Given the description of an element on the screen output the (x, y) to click on. 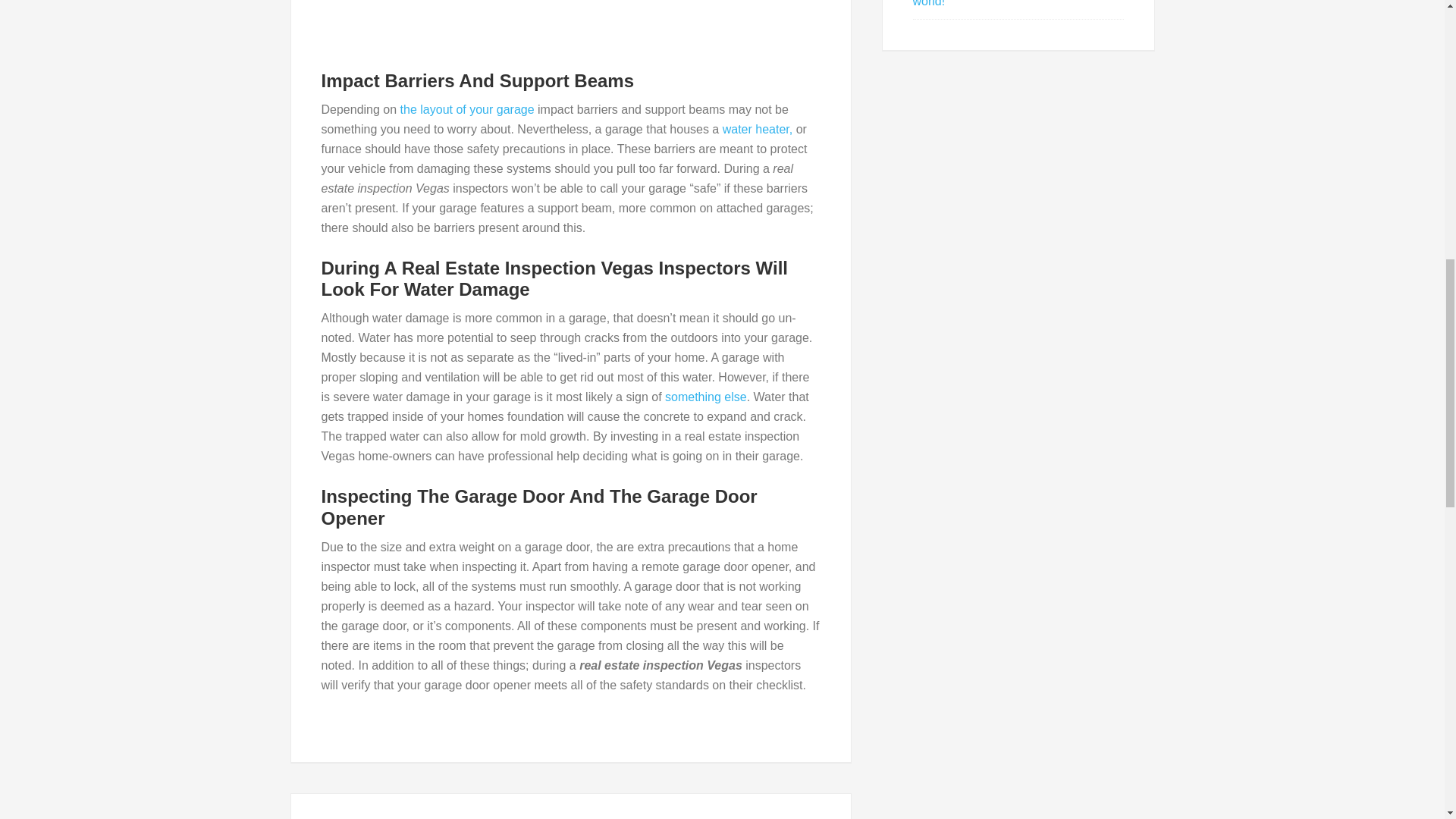
water heater, (757, 128)
something else (705, 396)
Hello world! (1004, 3)
the layout of your garage (467, 109)
